Given the description of an element on the screen output the (x, y) to click on. 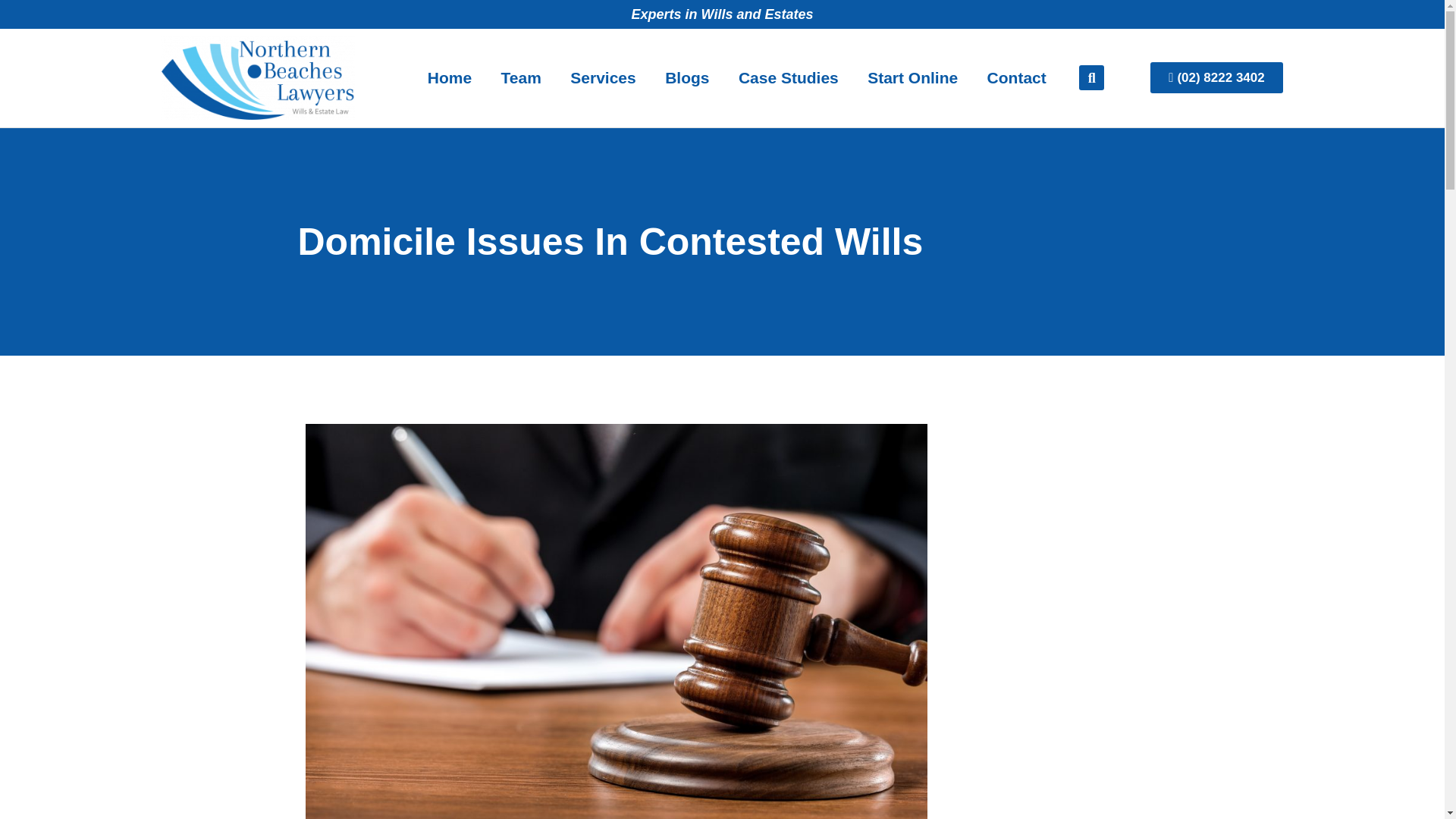
Team (521, 77)
Start Online (912, 77)
Home (449, 77)
Contact (1016, 77)
Services (603, 77)
Case Studies (788, 77)
Blogs (686, 77)
